Given the description of an element on the screen output the (x, y) to click on. 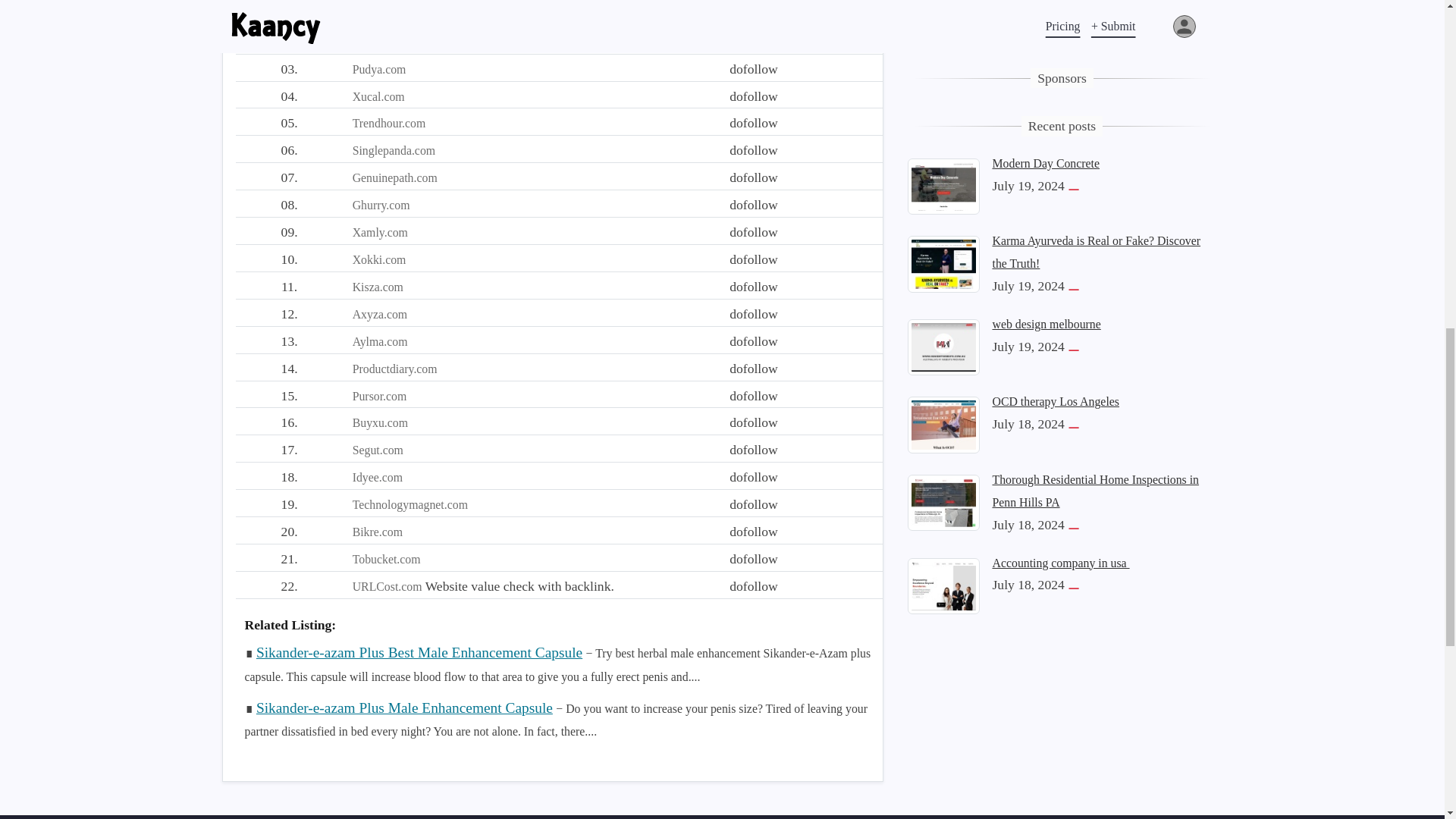
Trendhour.com (389, 123)
Singlepanda.com (393, 150)
Kisza.com (377, 286)
Ghurry.com (381, 205)
Pudya.com (379, 69)
Xucal.com (378, 96)
Sikander-e-azam Plus Male Enhancement Capsule (404, 706)
Axyza.com (379, 314)
Xokki.com (379, 259)
Aylma.com (379, 341)
Sikander-e-azam Plus Best Male Enhancement Capsule (419, 652)
Lieel.com (376, 42)
Genuinepath.com (395, 177)
Xamly.com (379, 232)
Indexingtools.com (397, 14)
